Given the description of an element on the screen output the (x, y) to click on. 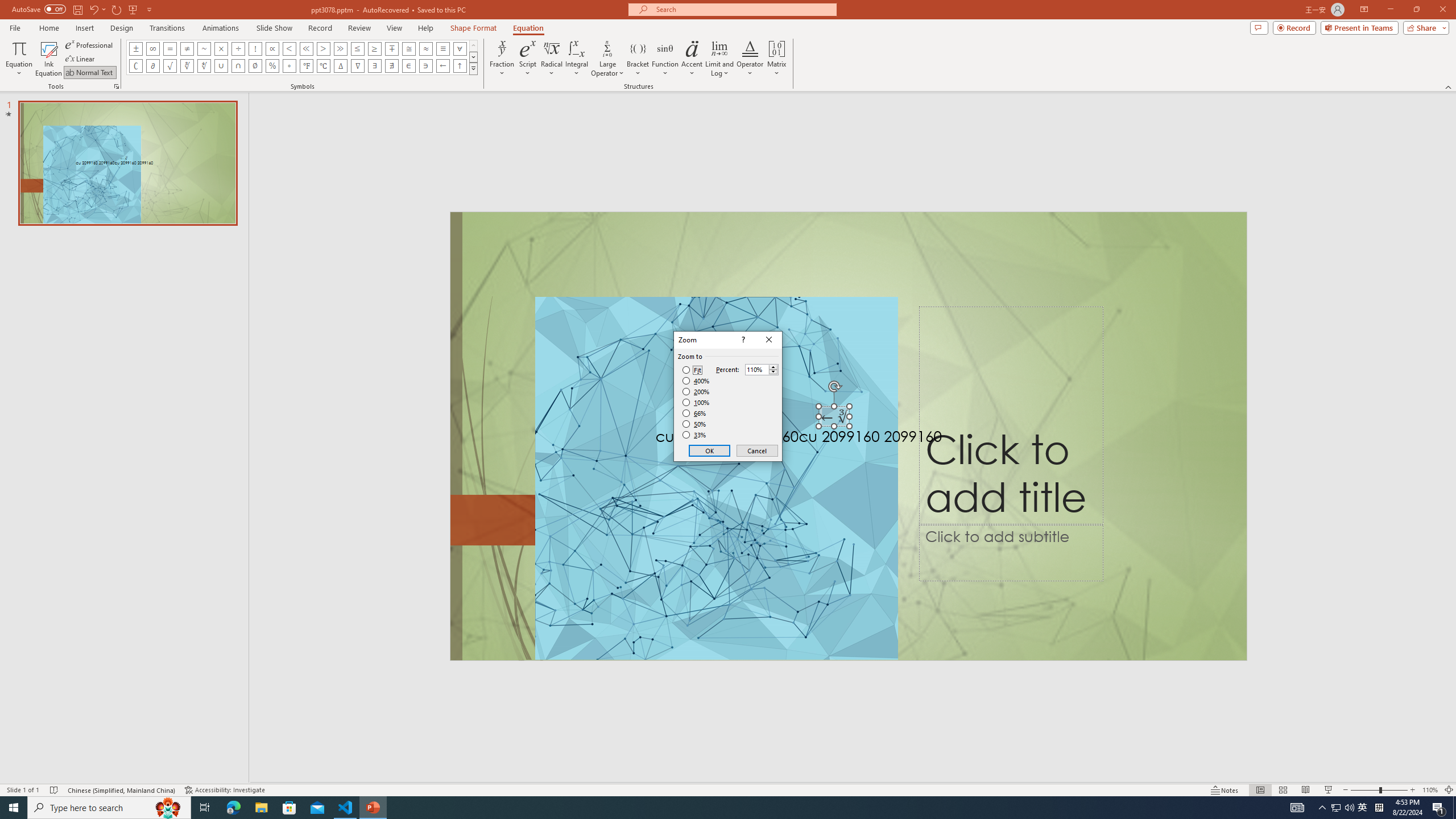
Equation Symbol Contains as Member (425, 65)
Equation (18, 58)
Equation (528, 28)
Equation Symbol Almost Equal To (Asymptotic To) (425, 48)
Equation Symbol Empty Set (255, 65)
